Given the description of an element on the screen output the (x, y) to click on. 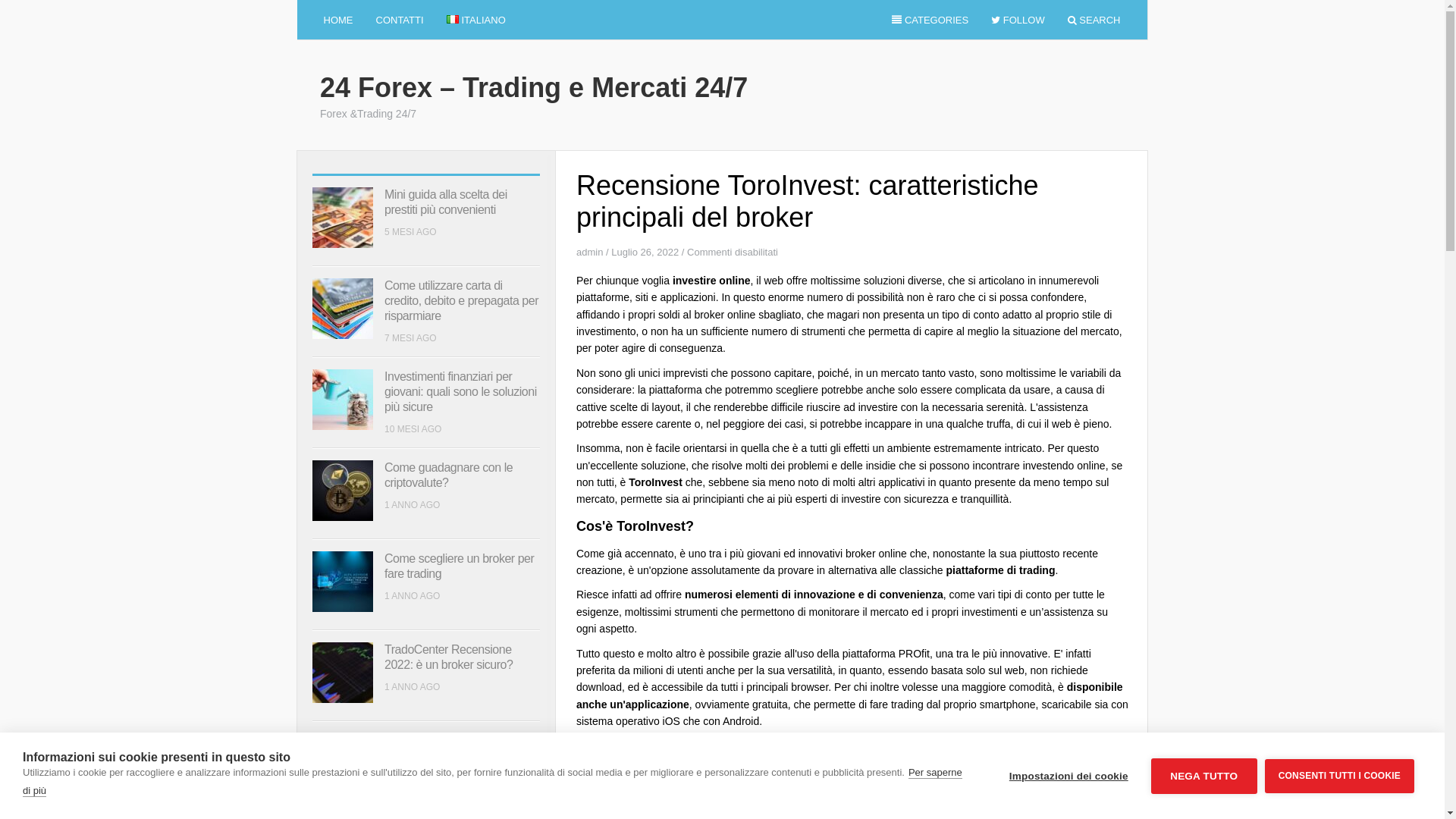
Impostazioni dei cookie Element type: text (1068, 775)
CONSENTI TUTTI I COOKIE Element type: text (1339, 775)
admin Element type: text (589, 251)
Come guadagnare con le criptovalute? Element type: text (448, 475)
NEGA TUTTO Element type: text (1204, 775)
CONTATTI Element type: text (399, 20)
ITALIANO Element type: text (476, 20)
HOME Element type: text (338, 20)
Come scegliere un broker per fare trading Element type: text (458, 566)
Recensione ToroInvest: caratteristiche principali del broker Element type: text (452, 755)
